Given the description of an element on the screen output the (x, y) to click on. 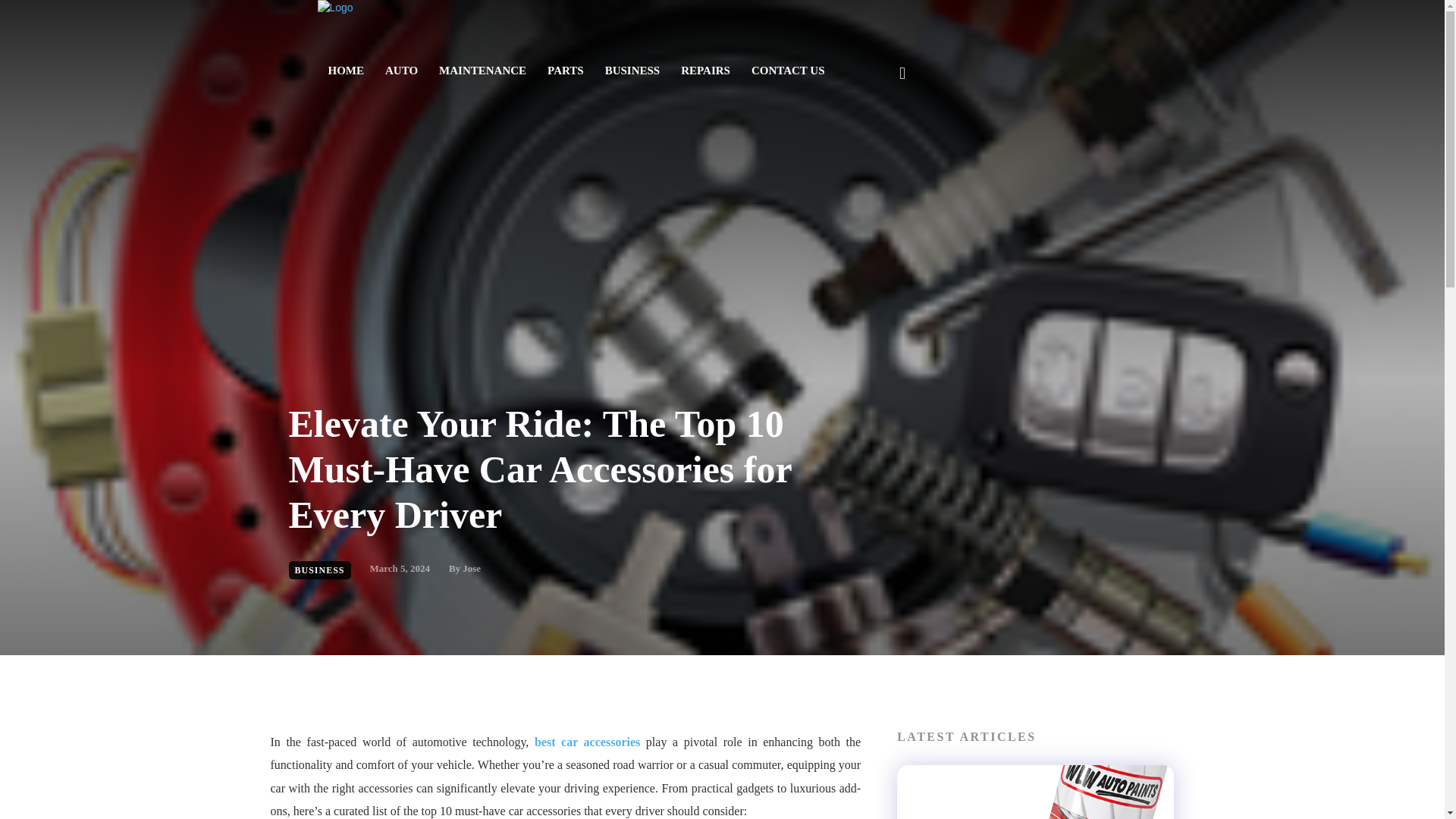
BUSINESS (319, 570)
BUSINESS (632, 70)
CONTACT US (788, 70)
HOME (345, 70)
REPAIRS (705, 70)
MAINTENANCE (482, 70)
Jose (471, 568)
best car accessories (590, 741)
AUTO (401, 70)
PARTS (565, 70)
